Given the description of an element on the screen output the (x, y) to click on. 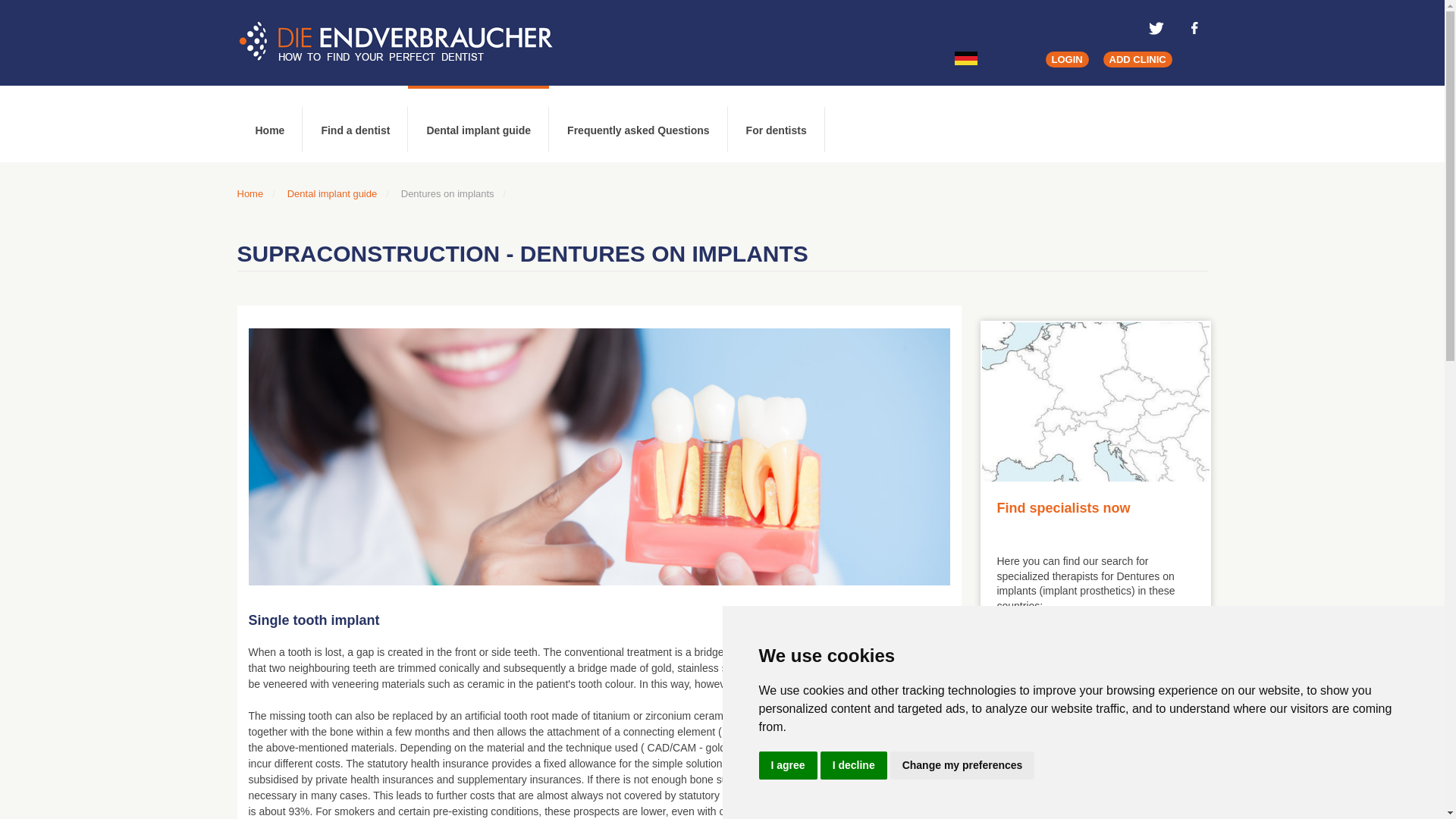
For dentists (776, 123)
Dental implant guide (477, 123)
Dental implant guide (331, 193)
I agree (787, 765)
ADD CLINIC (1137, 59)
Home (249, 193)
I decline (853, 765)
Find a dentist (354, 123)
Find a dentist (354, 123)
